Given the description of an element on the screen output the (x, y) to click on. 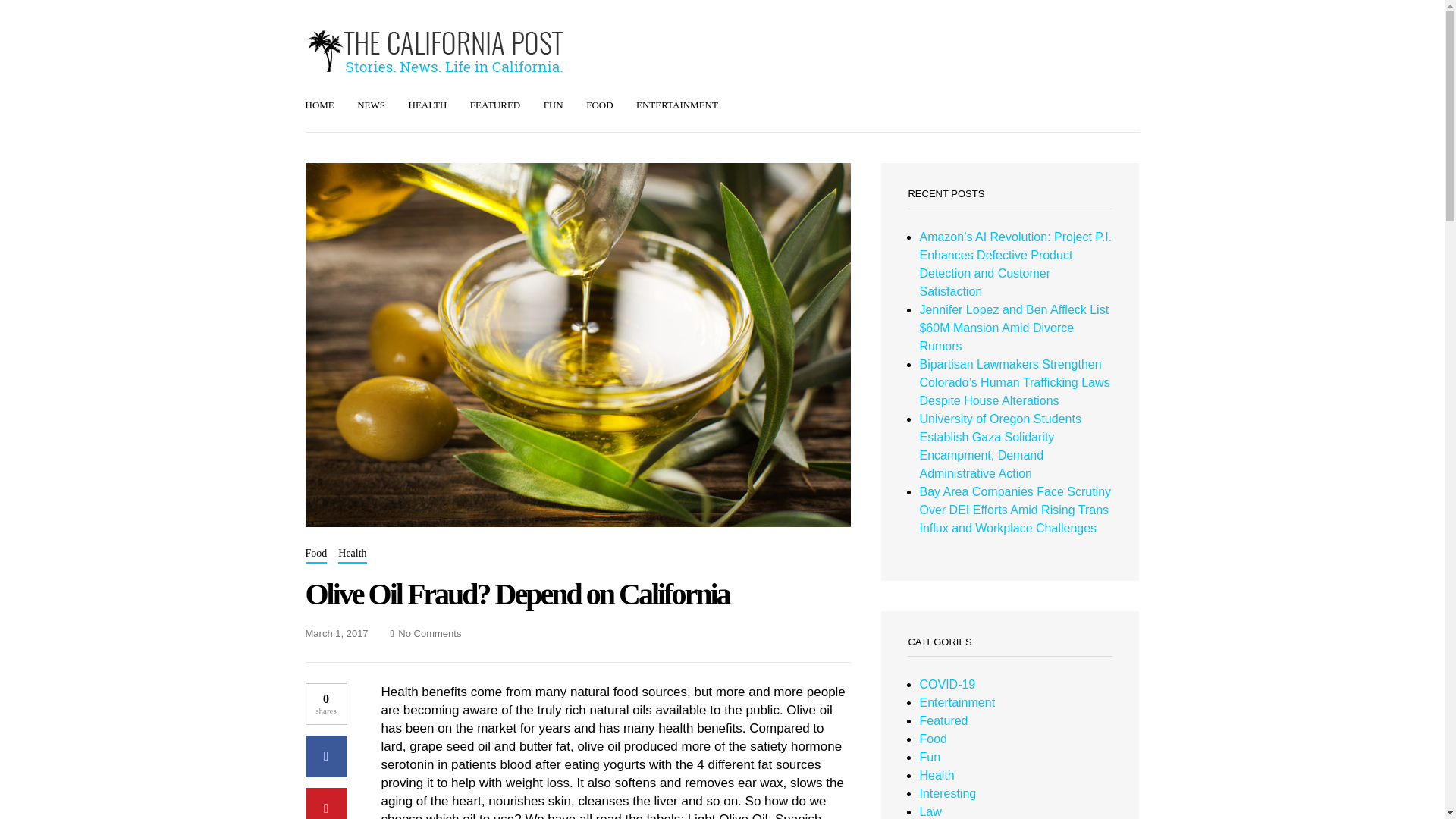
Food (932, 738)
Fun (929, 757)
COVID-19 (946, 684)
ENTERTAINMENT (676, 106)
Food (315, 553)
Featured (943, 720)
No Comments (429, 633)
FEATURED (494, 106)
Interesting (946, 793)
Entertainment (956, 702)
Law (929, 811)
Health (935, 775)
Health (351, 553)
